Given the description of an element on the screen output the (x, y) to click on. 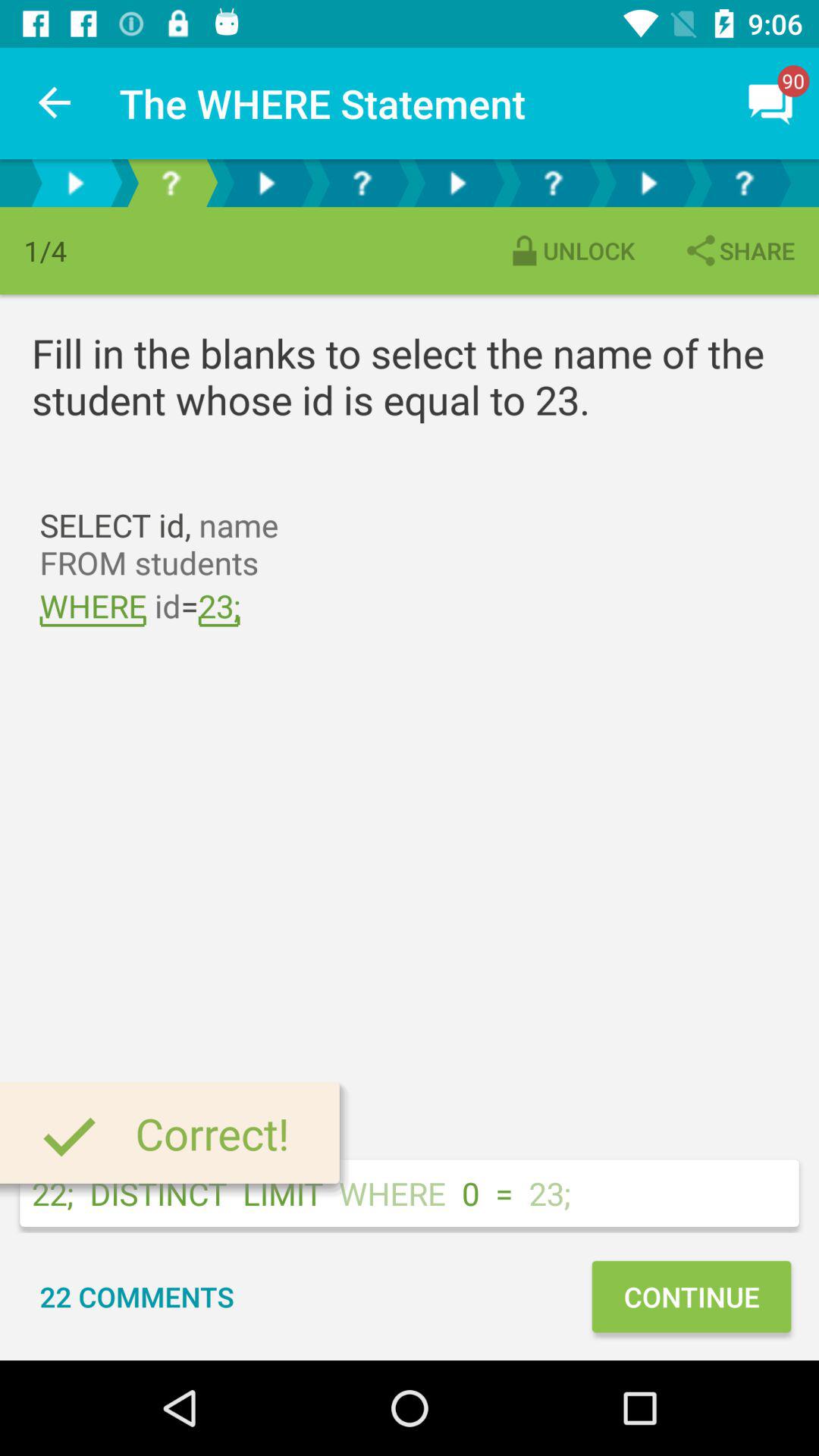
turn off the item next to the 22 comments item (691, 1296)
